Given the description of an element on the screen output the (x, y) to click on. 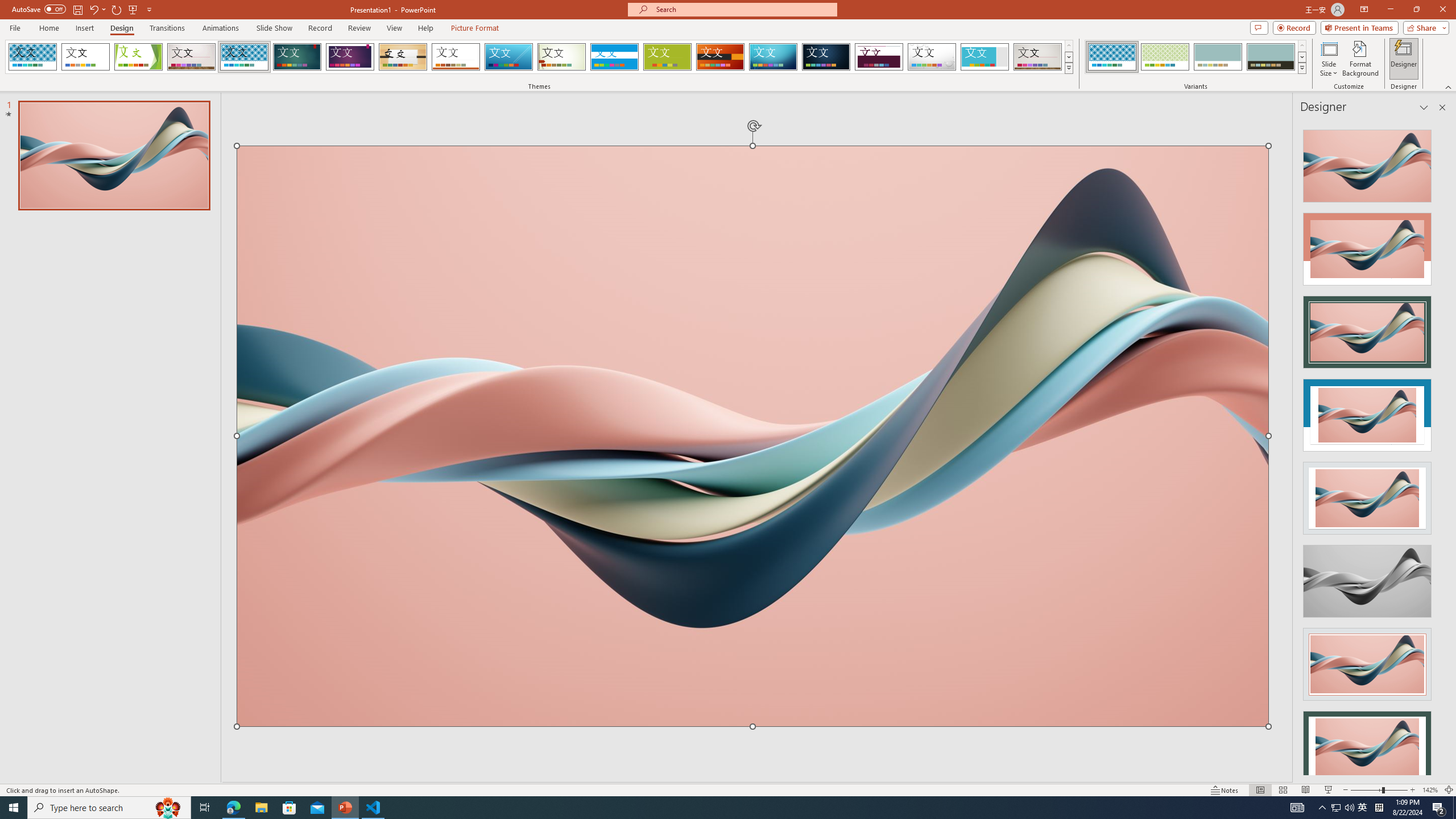
Ion (296, 56)
Dividend (879, 56)
Wisp (561, 56)
Recommended Design: Design Idea (1366, 162)
Format Background (1360, 58)
